Given the description of an element on the screen output the (x, y) to click on. 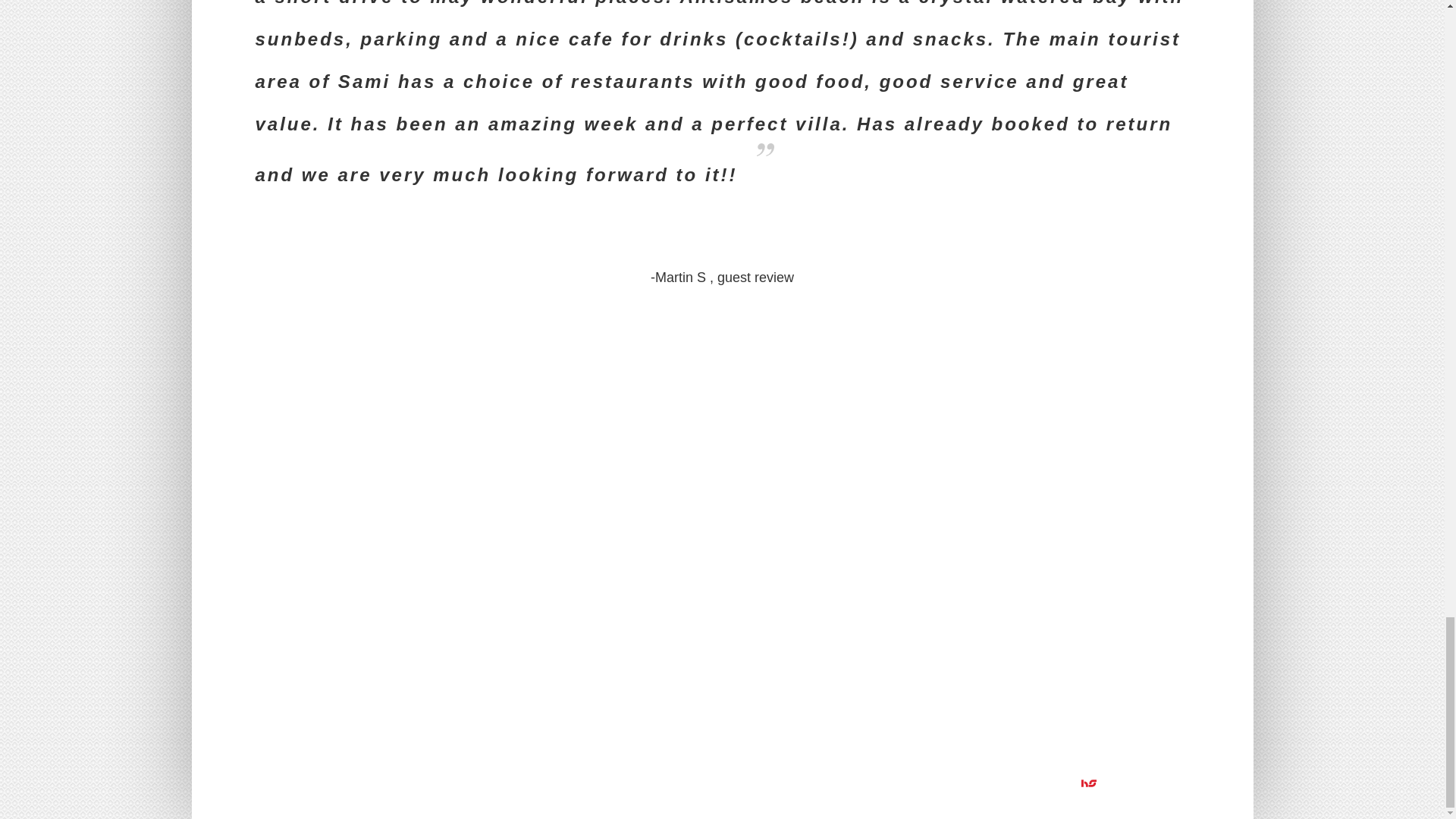
instagram (288, 782)
facebook (266, 782)
HellasSites (1134, 782)
google (334, 782)
pinterest (311, 782)
